Given the description of an element on the screen output the (x, y) to click on. 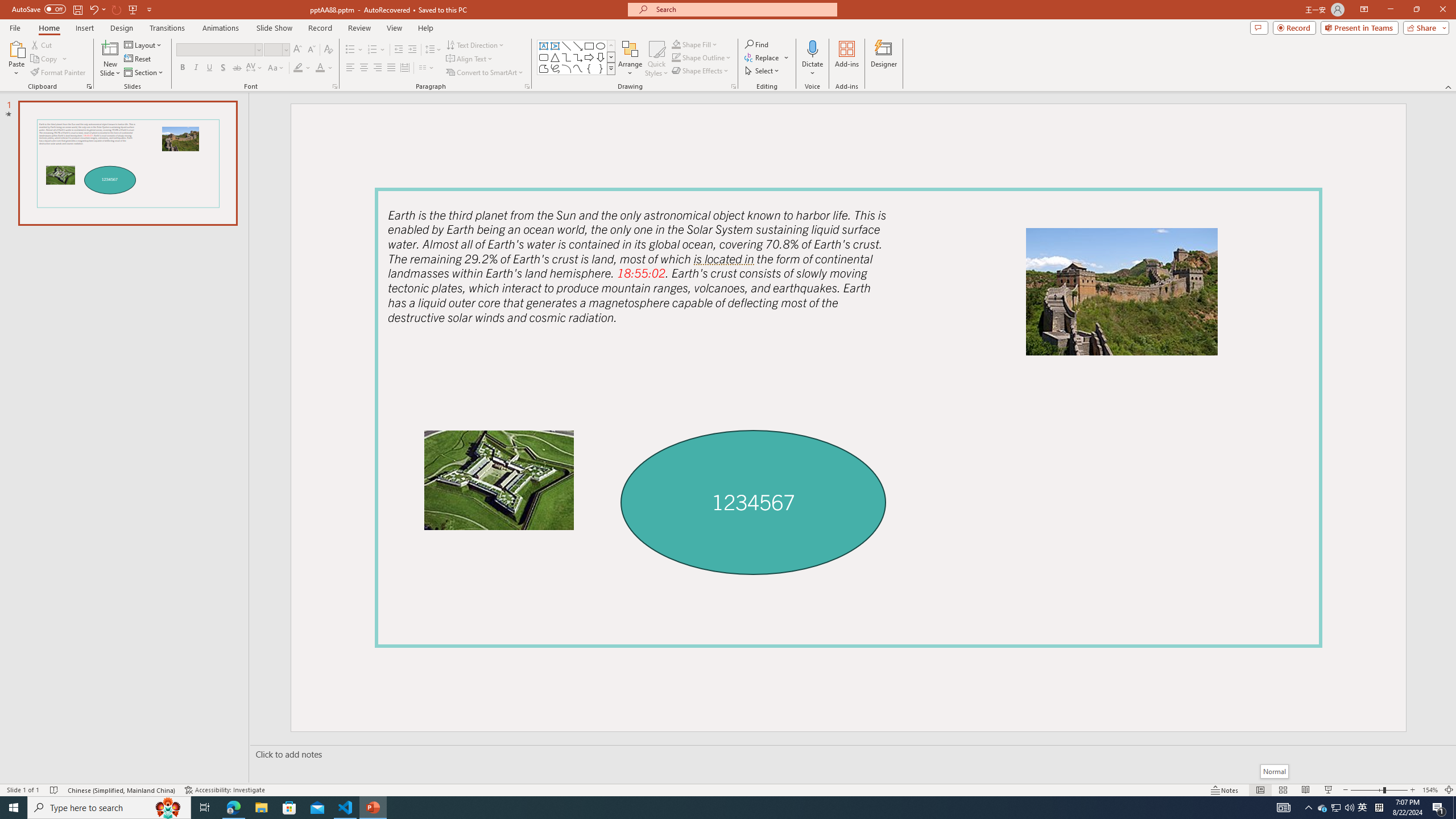
Align Text (470, 58)
Format Object... (733, 85)
Decrease Indent (398, 49)
Columns (426, 67)
